Given the description of an element on the screen output the (x, y) to click on. 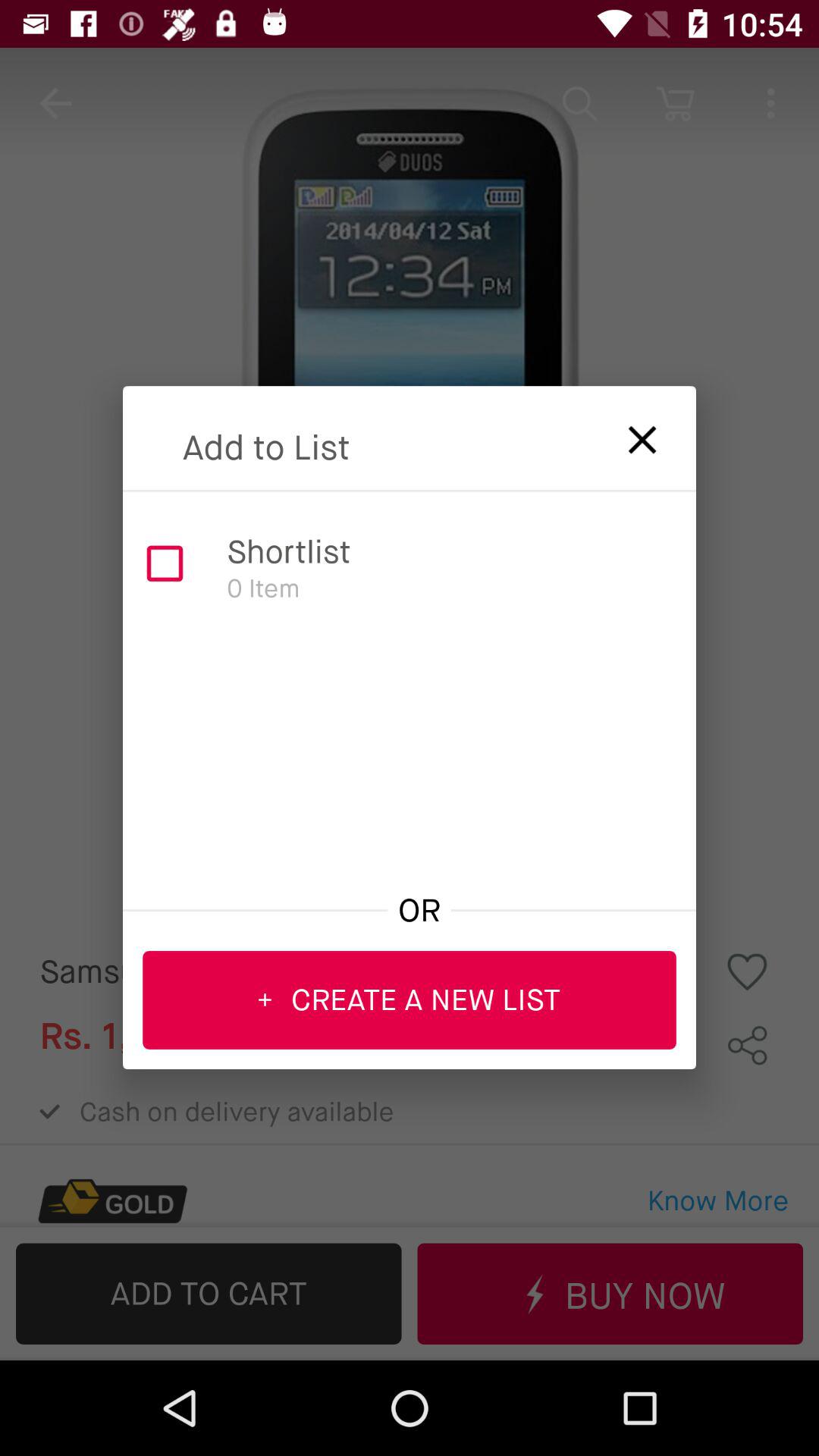
close window (632, 435)
